Given the description of an element on the screen output the (x, y) to click on. 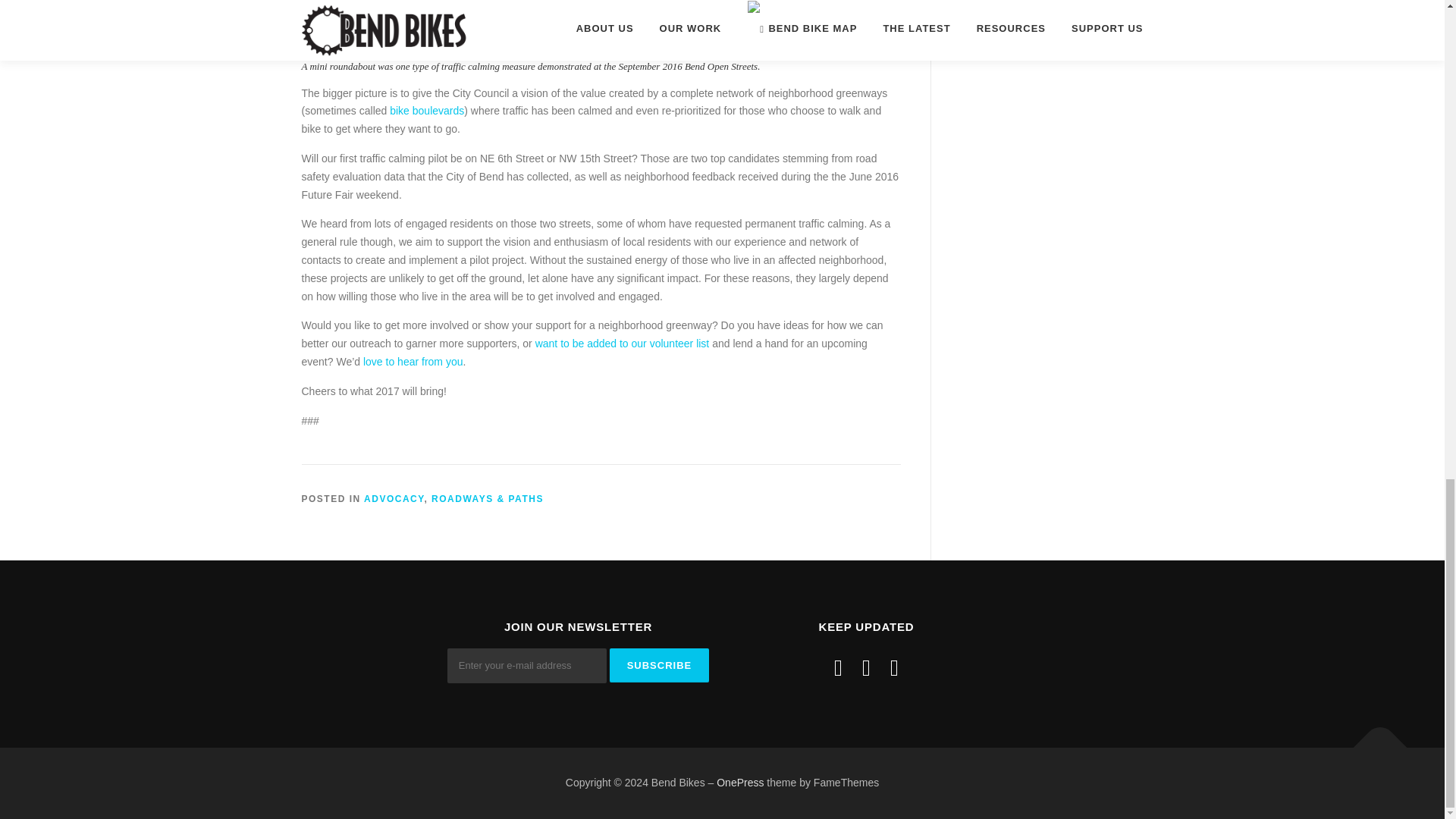
Back To Top (1372, 740)
want to be added to our volunteer list (622, 343)
ADVOCACY (393, 498)
Subscribe (660, 665)
bike boulevards (427, 110)
love to hear from you (412, 361)
